Given the description of an element on the screen output the (x, y) to click on. 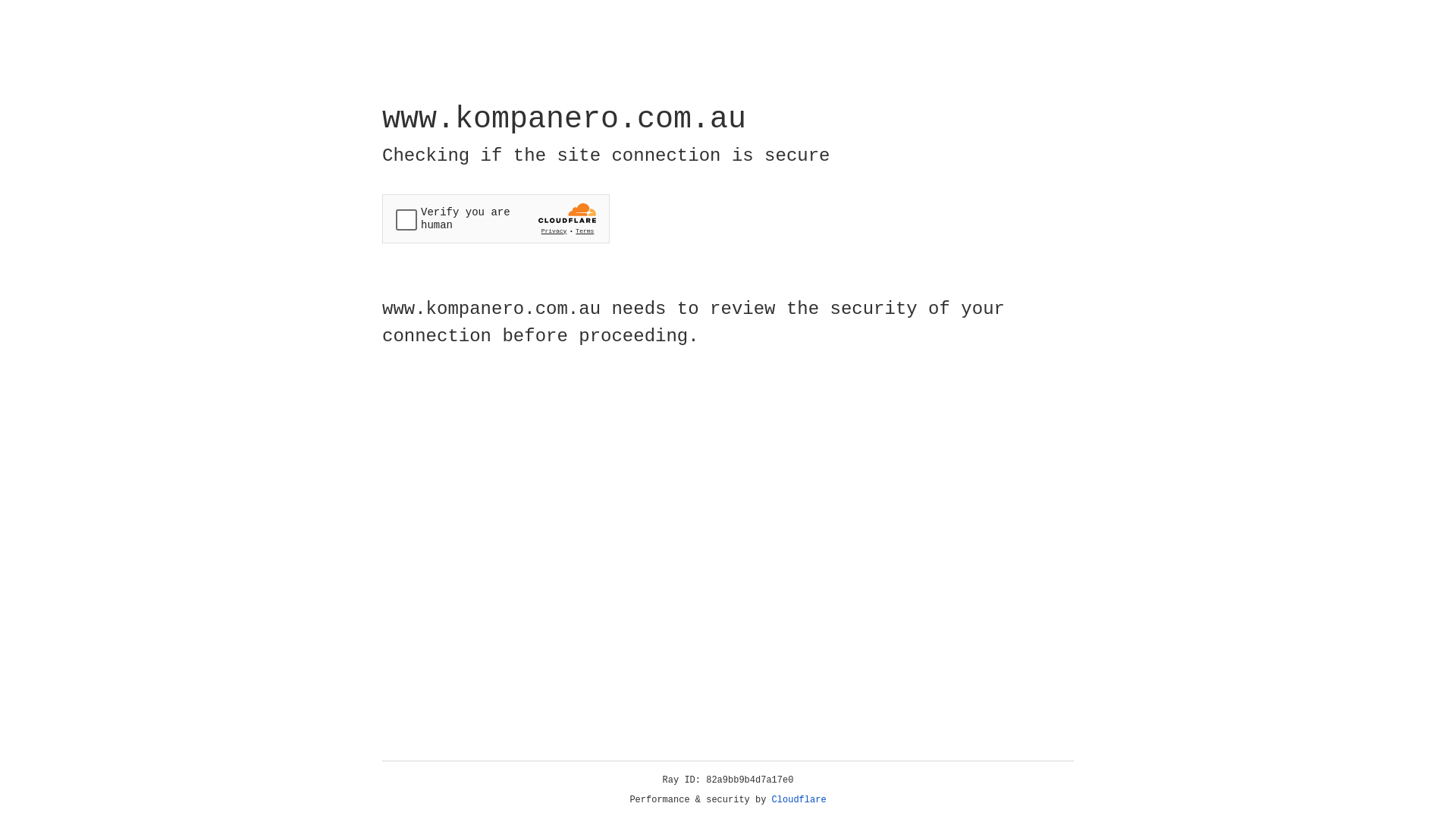
Widget containing a Cloudflare security challenge Element type: hover (495, 218)
Cloudflare Element type: text (798, 799)
